Given the description of an element on the screen output the (x, y) to click on. 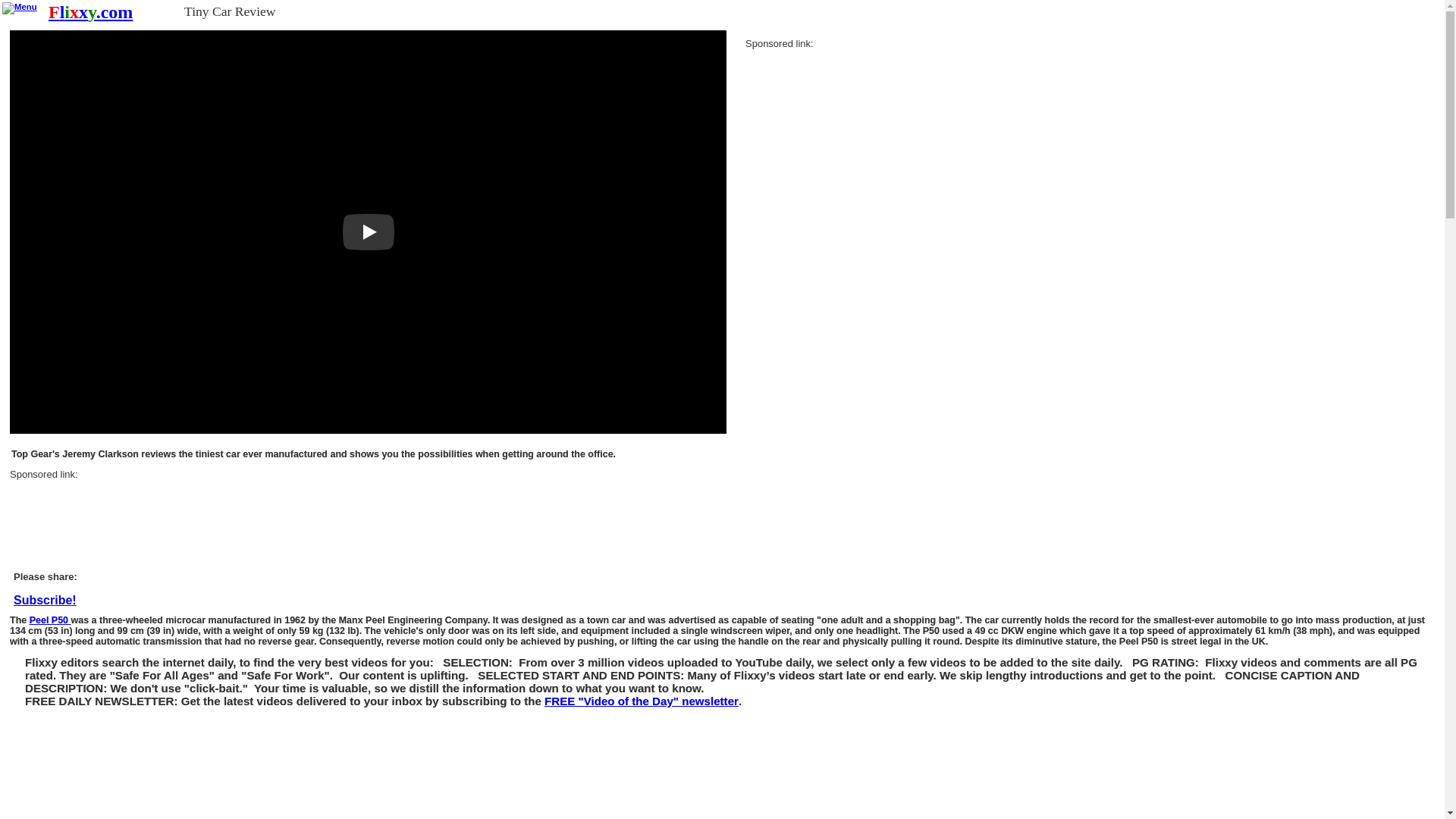
Peel P50 (49, 620)
Home (89, 12)
Subscribe! (44, 601)
Subscribe! (641, 701)
FREE "Video of the Day" newsletter (641, 701)
FREE Newsletter (44, 601)
Menu (19, 8)
Flixxy.com (89, 12)
300x250 (858, 139)
